Given the description of an element on the screen output the (x, y) to click on. 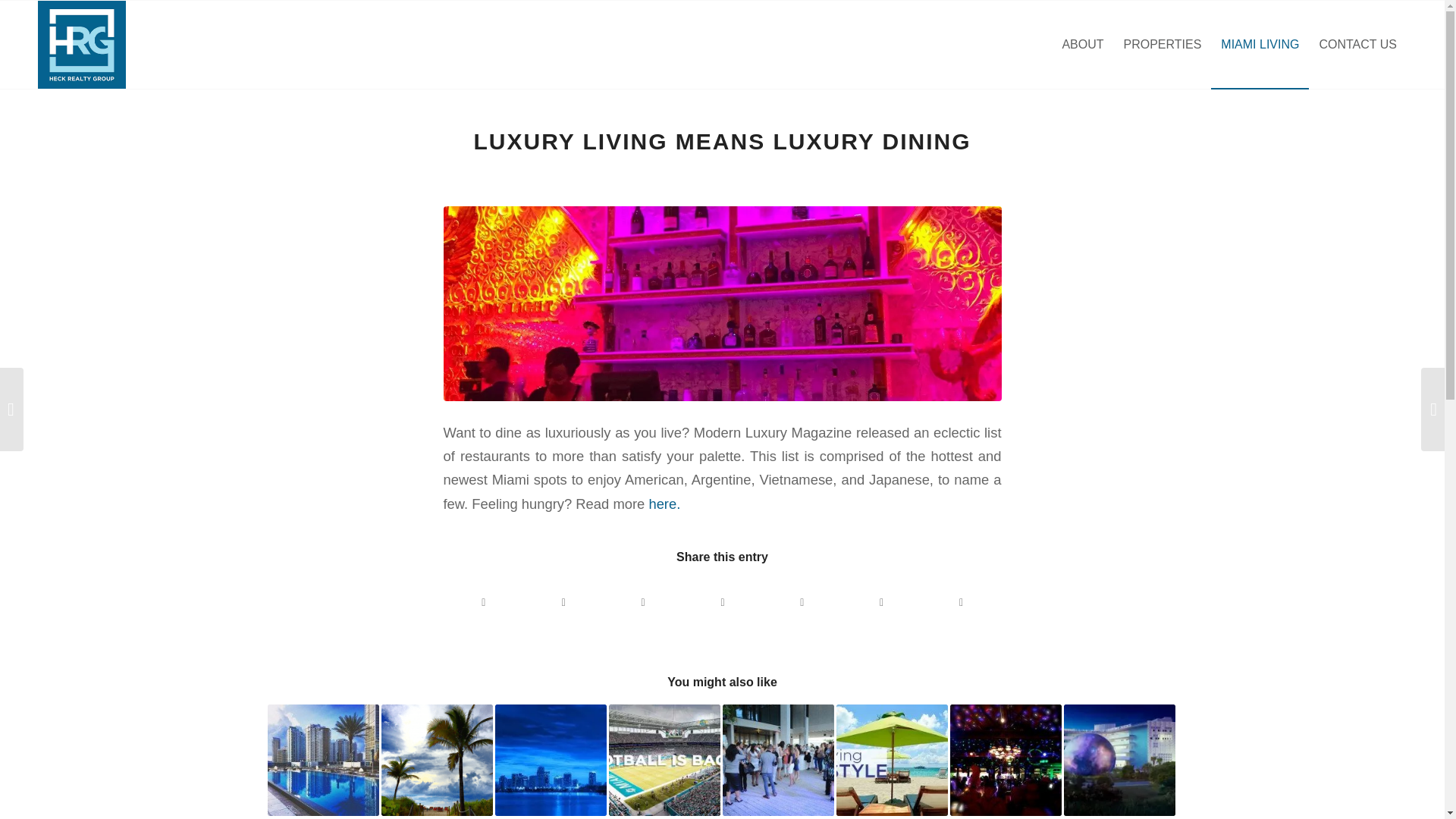
MIAMI LIVING (1259, 44)
here. (663, 503)
Heck Realty Group, LLC (81, 44)
CONTACT US (1357, 44)
PROPERTIES (1162, 44)
